Given the description of an element on the screen output the (x, y) to click on. 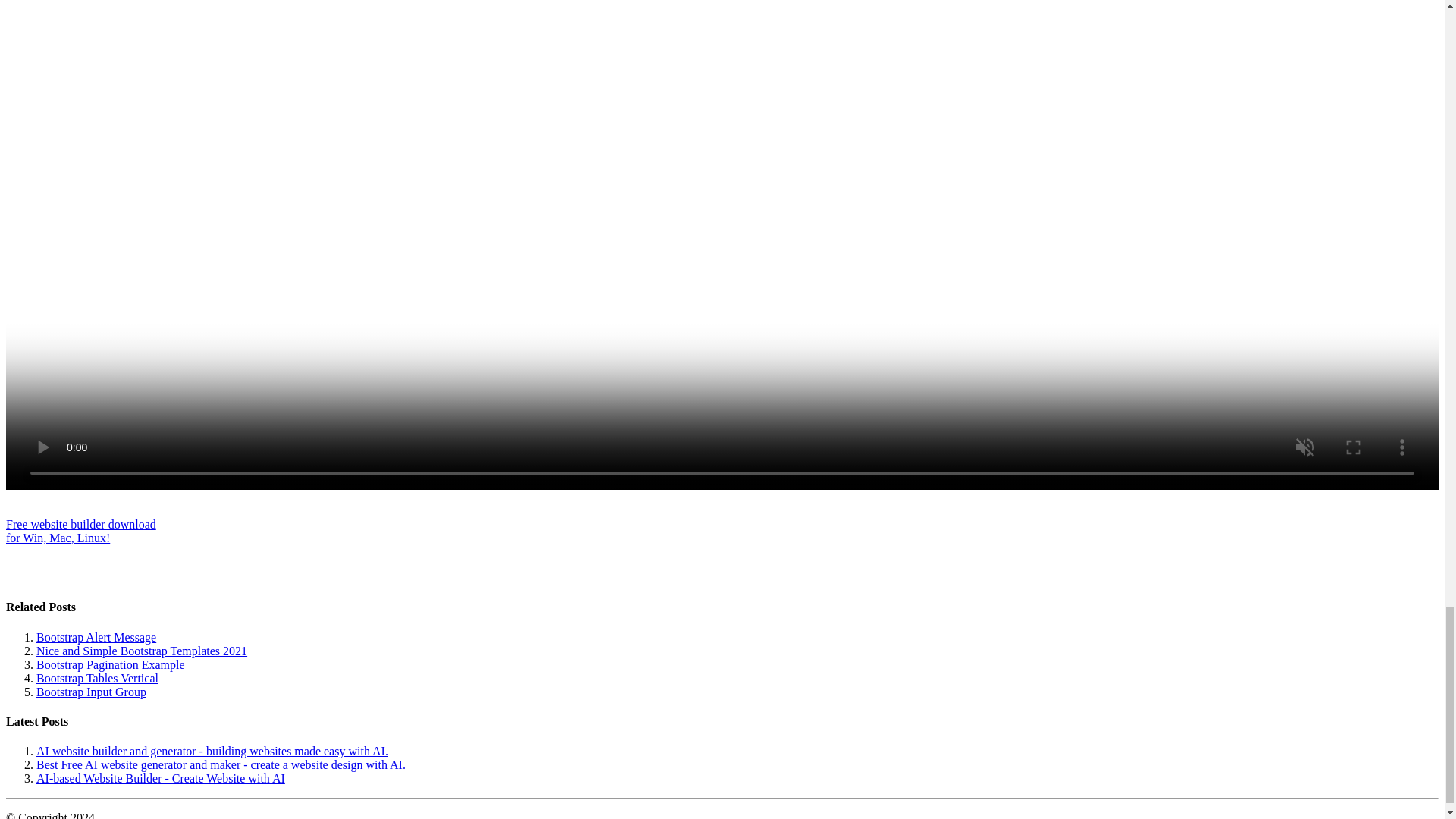
AI-based Website Builder - Create Website with AI (160, 778)
Bootstrap Input Group (91, 691)
Bootstrap Tables Vertical (97, 677)
Nice and Simple Bootstrap Templates 2021 (80, 530)
Bootstrap Alert Message (141, 650)
Bootstrap Pagination Example (95, 636)
